Given the description of an element on the screen output the (x, y) to click on. 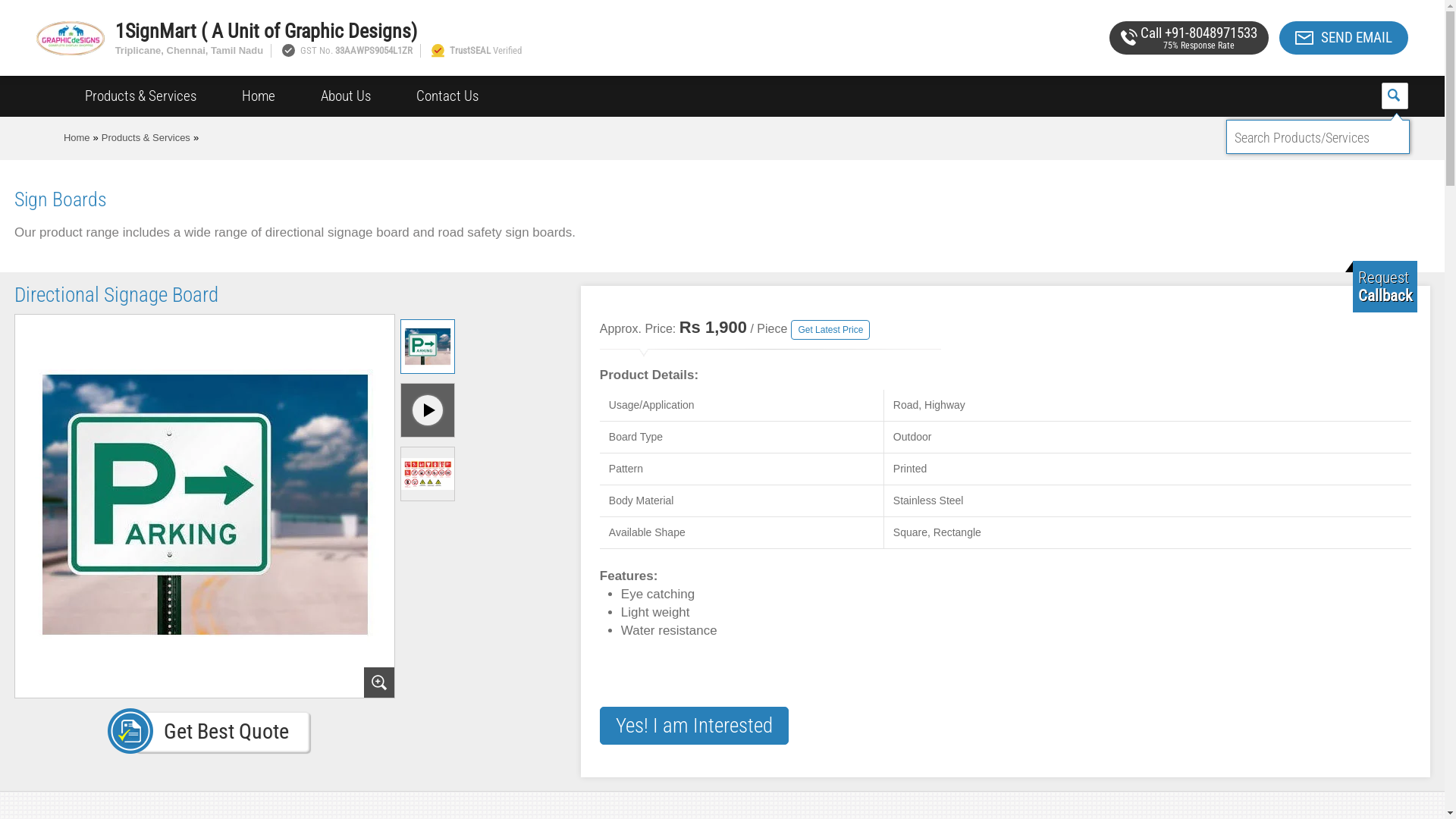
Contact Us Element type: text (447, 95)
1SignMart ( A Unit of Graphic Designs) Element type: text (552, 30)
Get Latest Price Element type: text (829, 329)
  Element type: text (1394, 95)
Products & Services Element type: text (145, 137)
Home Element type: text (76, 137)
About Us Element type: text (345, 95)
Get Best Quote Element type: text (208, 730)
Home Element type: text (258, 95)
TrustSEAL Verified Element type: text (474, 49)
Products & Services Element type: text (140, 95)
SEND EMAIL Element type: text (1343, 37)
Request
Callback Element type: text (1384, 286)
Yes! I am Interested Element type: text (693, 725)
Call +91-8048971533
75% Response Rate Element type: text (1188, 38)
